Given the description of an element on the screen output the (x, y) to click on. 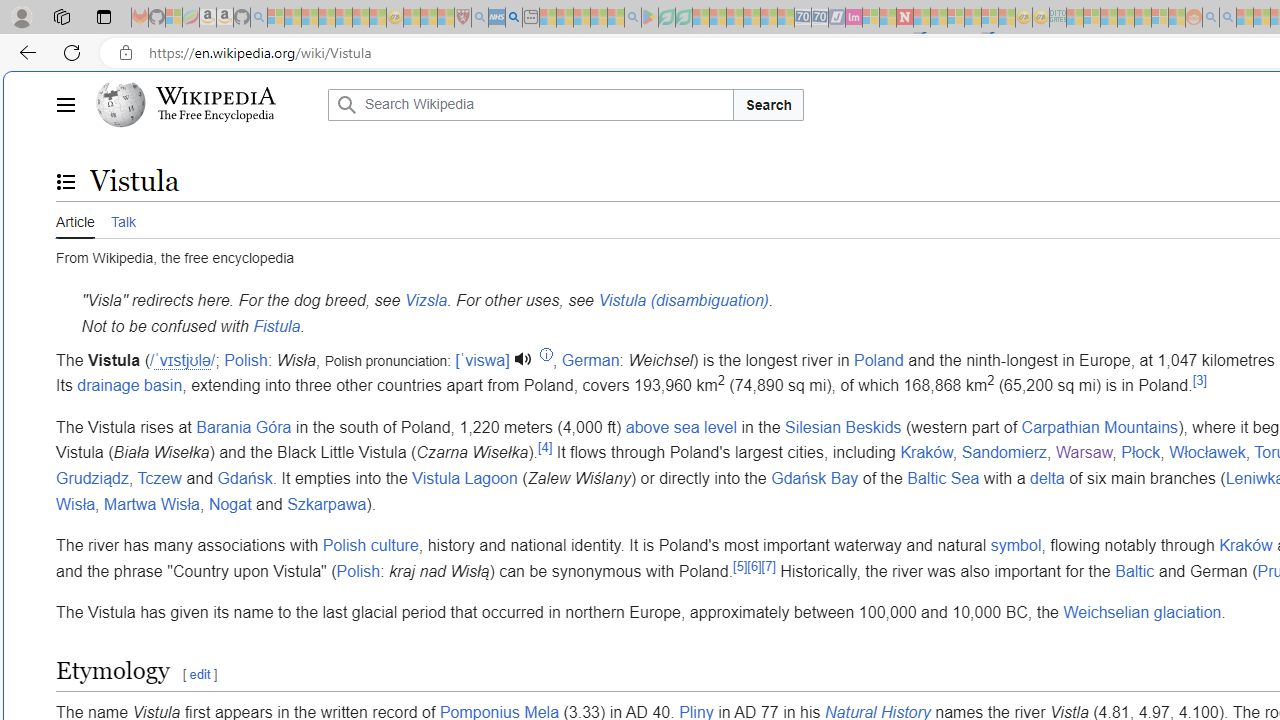
Kinda Frugal - MSN - Sleeping (1142, 17)
Article (75, 219)
utah sues federal government - Search (513, 17)
Search Wikipedia (530, 104)
symbol (1015, 546)
Talk (122, 219)
[6] (754, 565)
Robert H. Shmerling, MD - Harvard Health - Sleeping (462, 17)
Cheap Car Rentals - Save70.com - Sleeping (802, 17)
edit (200, 673)
